Given the description of an element on the screen output the (x, y) to click on. 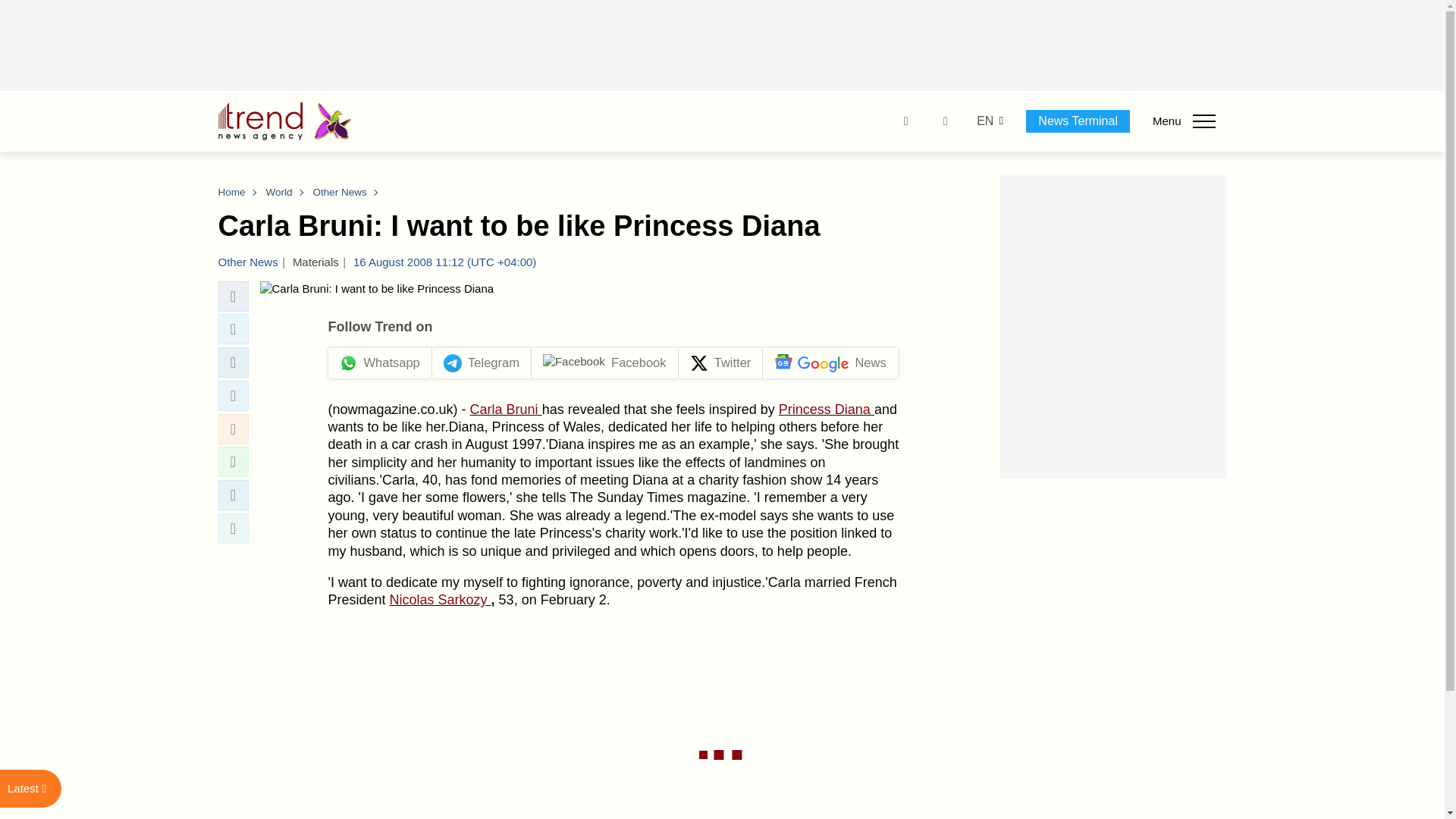
News Terminal (1077, 120)
English (984, 121)
EN (984, 121)
